Given the description of an element on the screen output the (x, y) to click on. 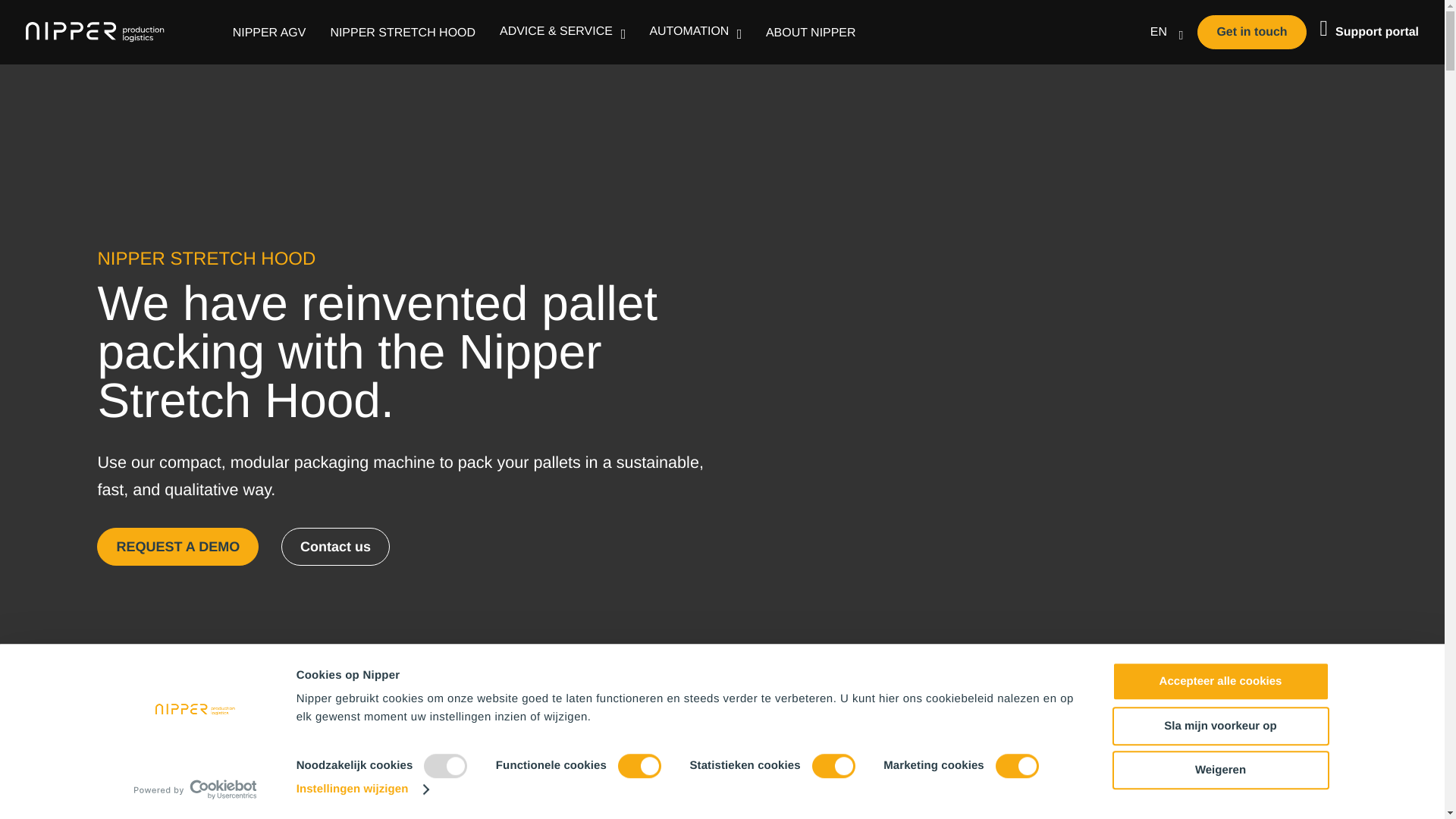
Accepteer alle cookies (1219, 681)
Weigeren (1219, 770)
Instellingen wijzigen (362, 789)
Sla mijn voorkeur op (1219, 725)
